Given the description of an element on the screen output the (x, y) to click on. 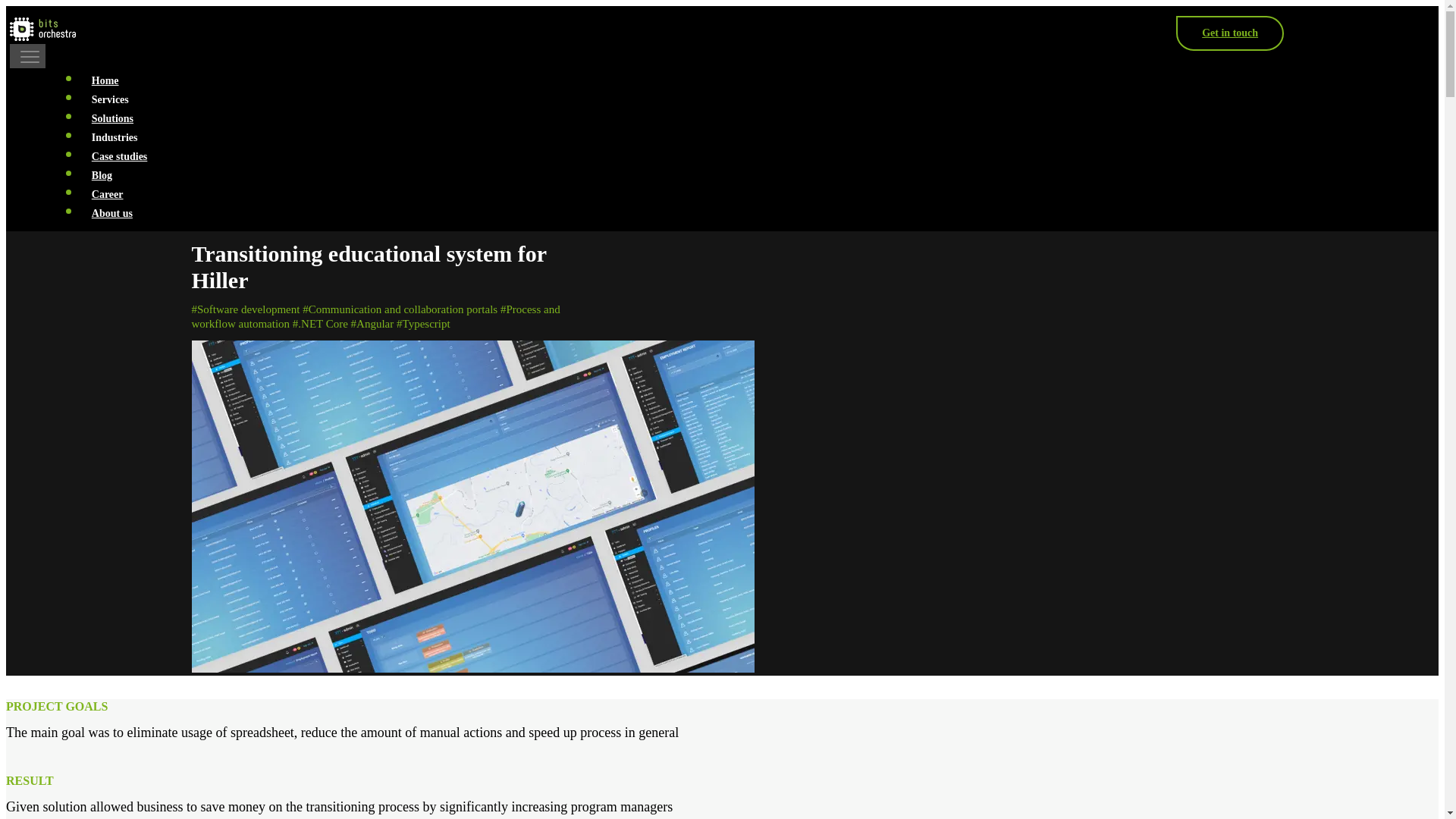
Solutions (111, 118)
Get in touch (1230, 32)
Career (106, 194)
Home (104, 80)
Case studies (119, 156)
About us (111, 213)
Blog (101, 174)
